Given the description of an element on the screen output the (x, y) to click on. 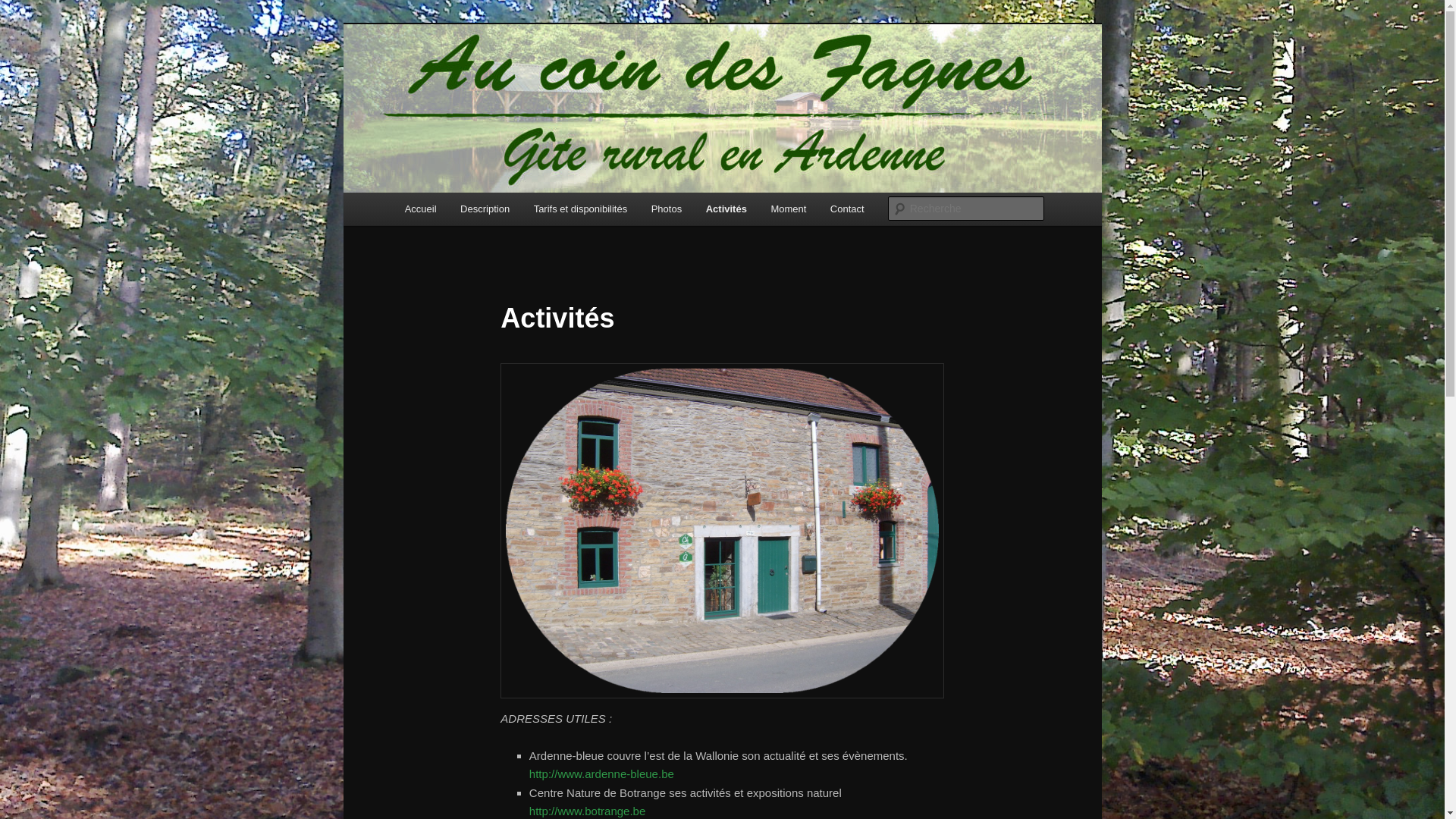
Au coin des Fagnes Element type: text (507, 78)
Recherche Element type: text (33, 8)
http://www.ardenne-bleue.be Element type: text (601, 773)
Photos Element type: text (666, 208)
Contact Element type: text (846, 208)
Accueil Element type: text (420, 208)
Description Element type: text (484, 208)
http://www.botrange.be Element type: text (587, 810)
Aller au contenu principal Element type: text (414, 192)
Moment Element type: text (788, 208)
